Given the description of an element on the screen output the (x, y) to click on. 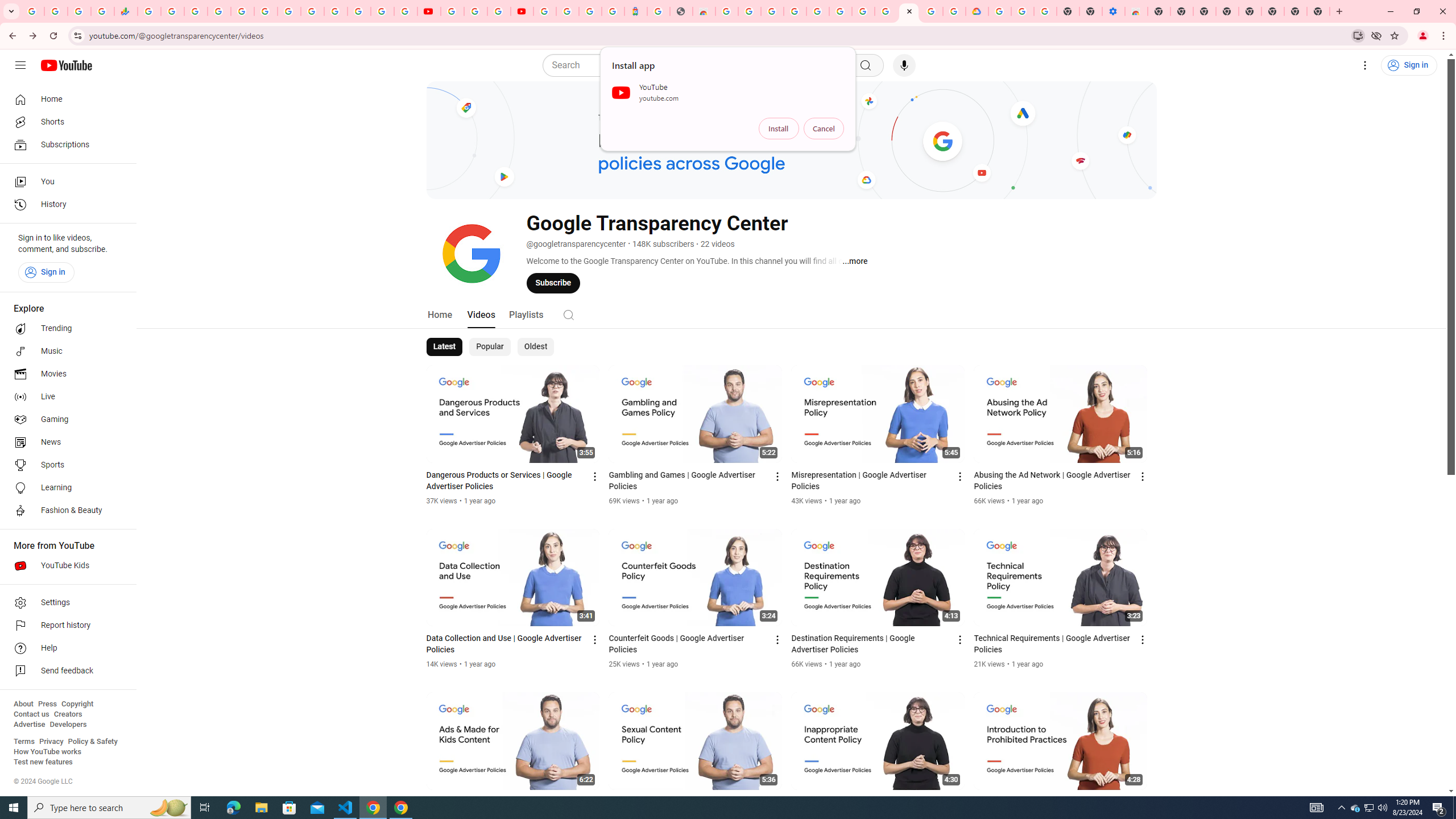
Guide (20, 65)
Popular (489, 346)
Cancel (823, 128)
Contact us (31, 714)
Privacy Checkup (405, 11)
Home (440, 314)
Settings (1365, 65)
Google Transparency Center - YouTube (909, 11)
Create your Google Account (498, 11)
Create your Google Account (931, 11)
Ad Settings (794, 11)
Chrome Web Store - Accessibility extensions (1136, 11)
YouTube (451, 11)
